Given the description of an element on the screen output the (x, y) to click on. 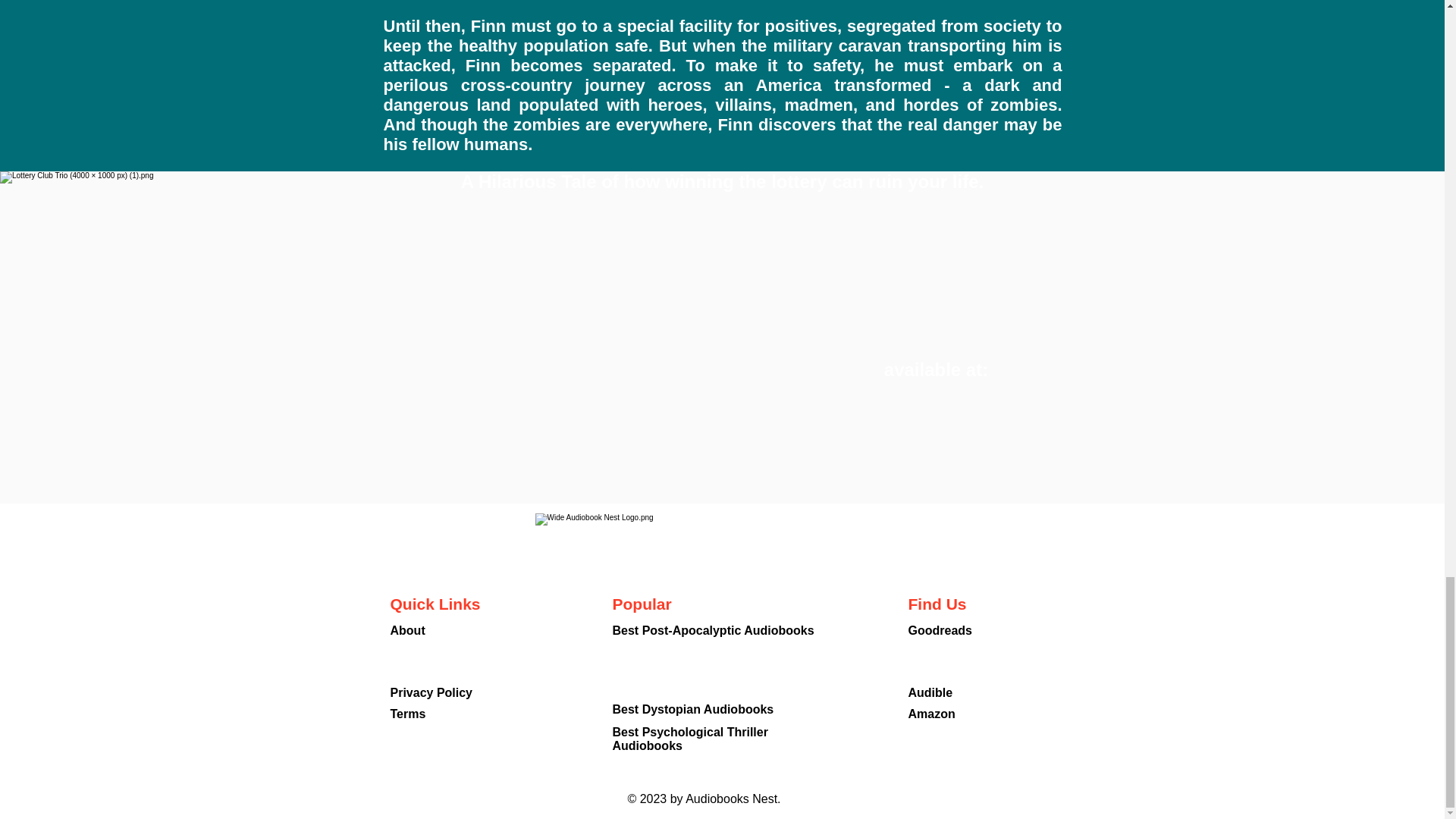
Best Post-Apocalyptic Audiobooks (712, 630)
Privacy Policy (430, 692)
About (407, 630)
